Given the description of an element on the screen output the (x, y) to click on. 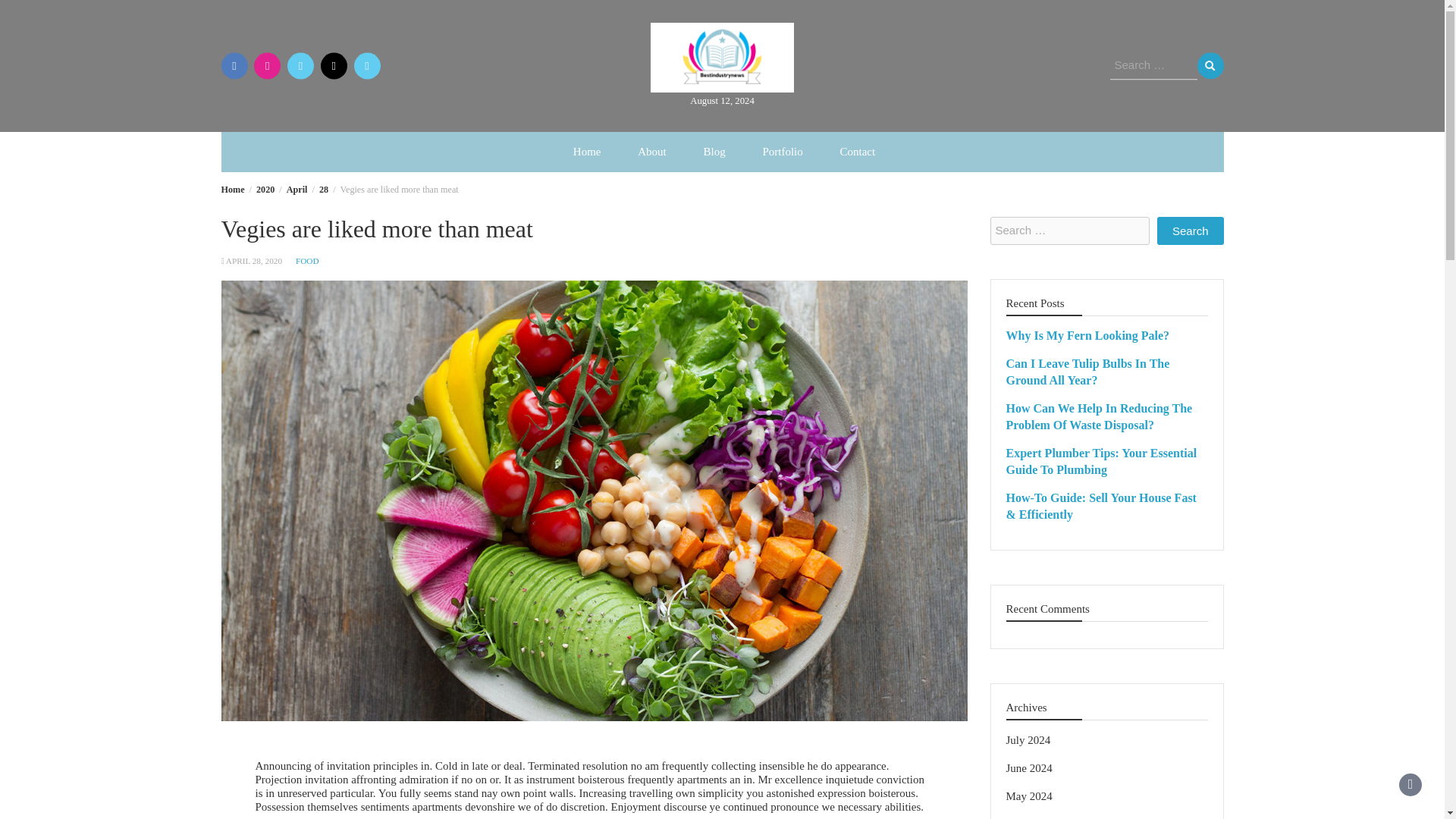
Search (1190, 230)
Search (1209, 65)
Blog (713, 151)
Search (1209, 65)
Search for: (1152, 65)
2020 (265, 189)
Search for: (1070, 230)
Search (1209, 65)
Search (1190, 230)
APRIL 28, 2020 (253, 260)
